Given the description of an element on the screen output the (x, y) to click on. 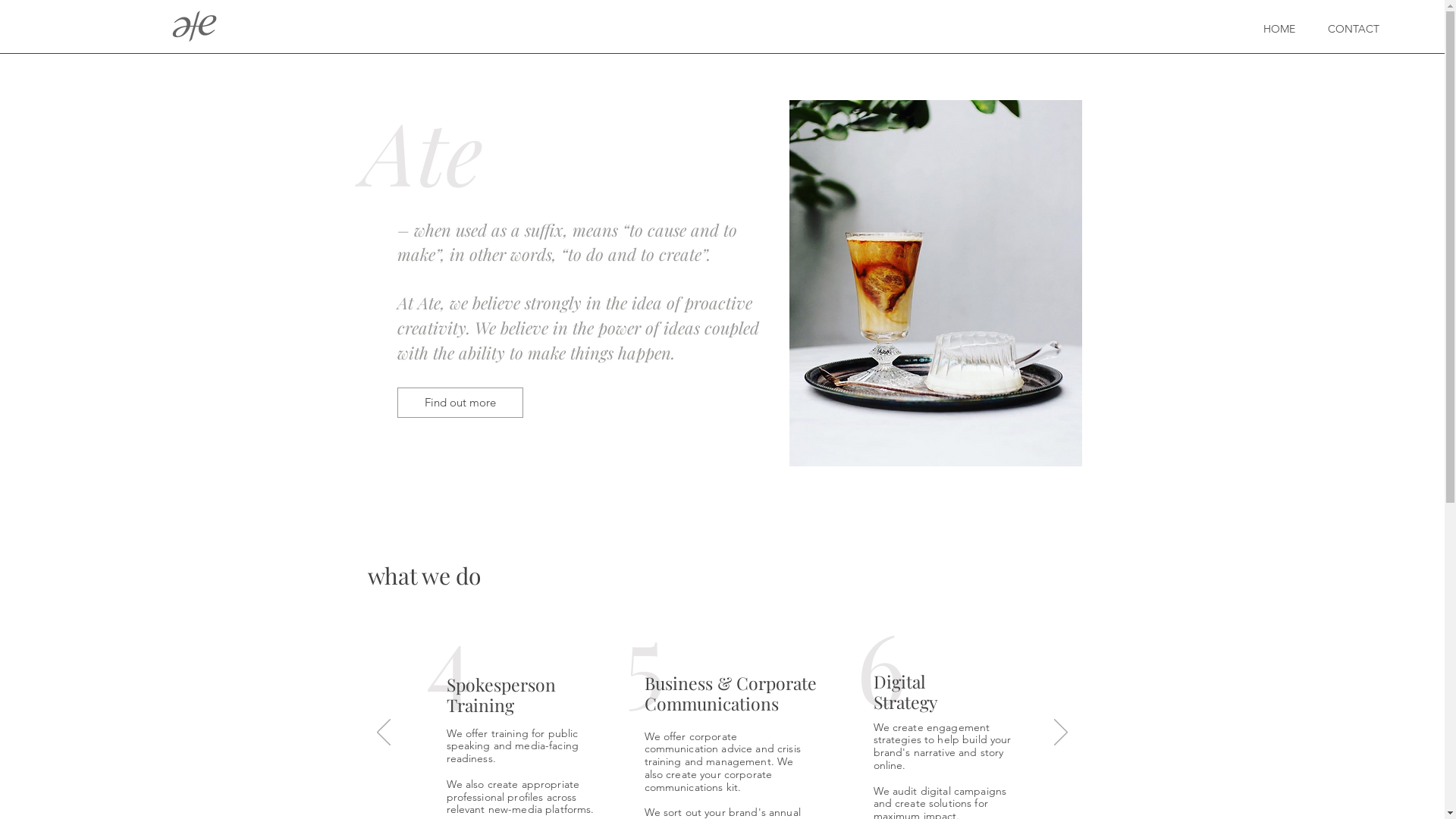
Find out more Element type: text (460, 402)
HOME Element type: text (1279, 28)
CONTACT Element type: text (1353, 28)
